Given the description of an element on the screen output the (x, y) to click on. 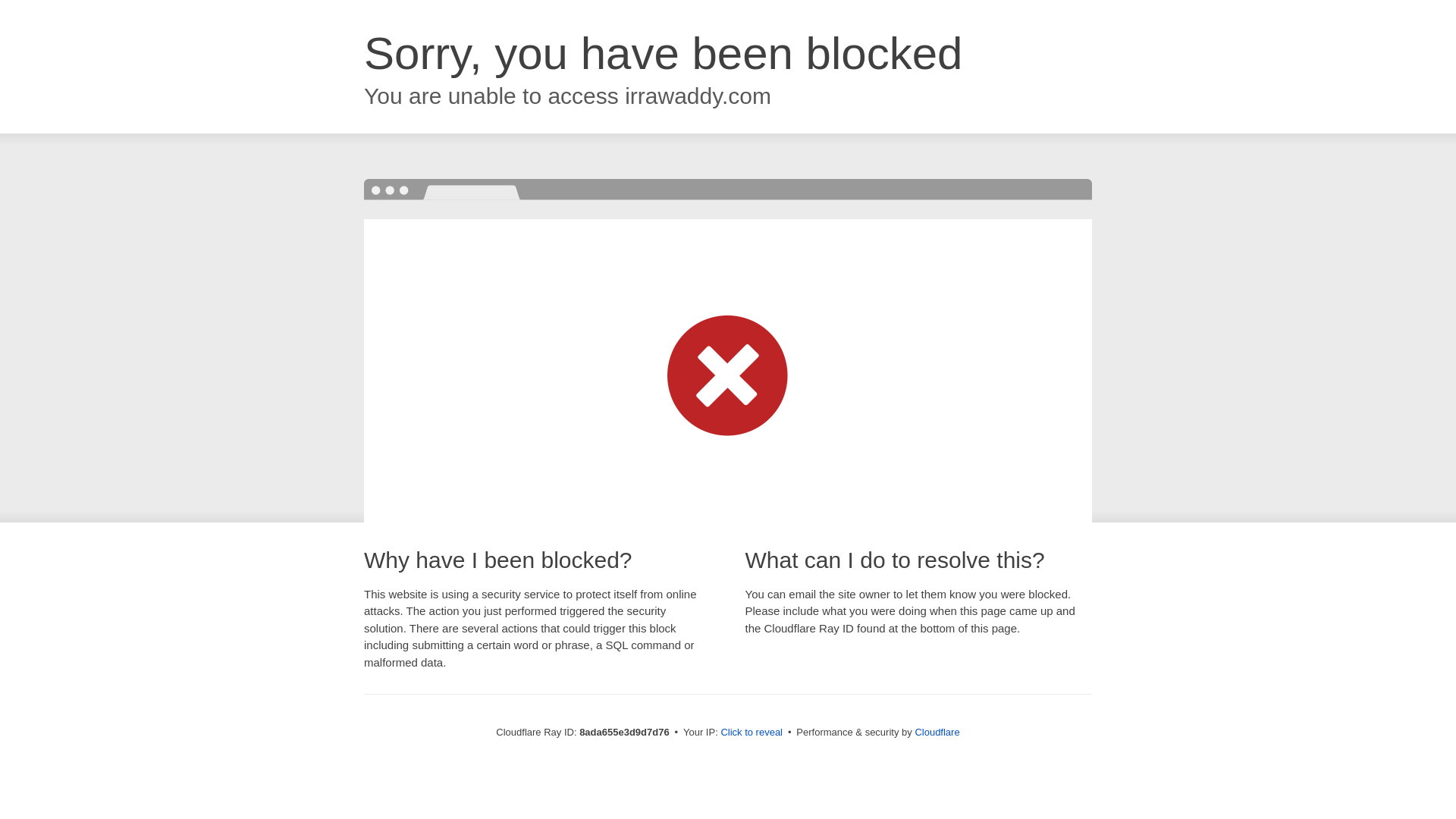
Click to reveal (751, 732)
Cloudflare (936, 731)
